Given the description of an element on the screen output the (x, y) to click on. 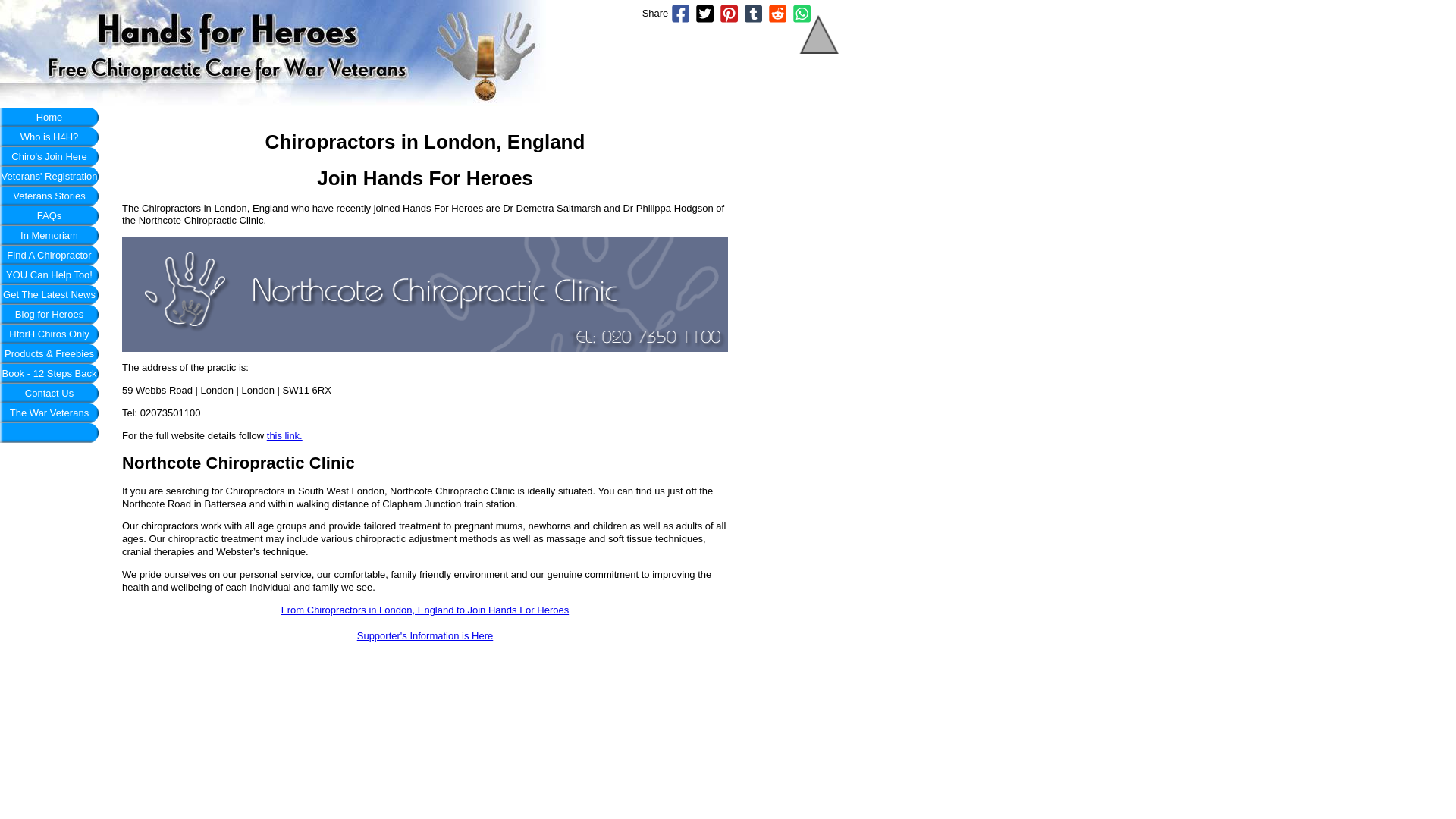
Get The Latest News (49, 294)
Book - 12 Steps Back (49, 373)
Contact Us (49, 393)
Veterans' Registration (49, 176)
this link. (284, 435)
YOU Can Help Too! (49, 275)
HforH Chiros Only (49, 333)
FAQs (49, 216)
In Memoriam (49, 235)
